Given the description of an element on the screen output the (x, y) to click on. 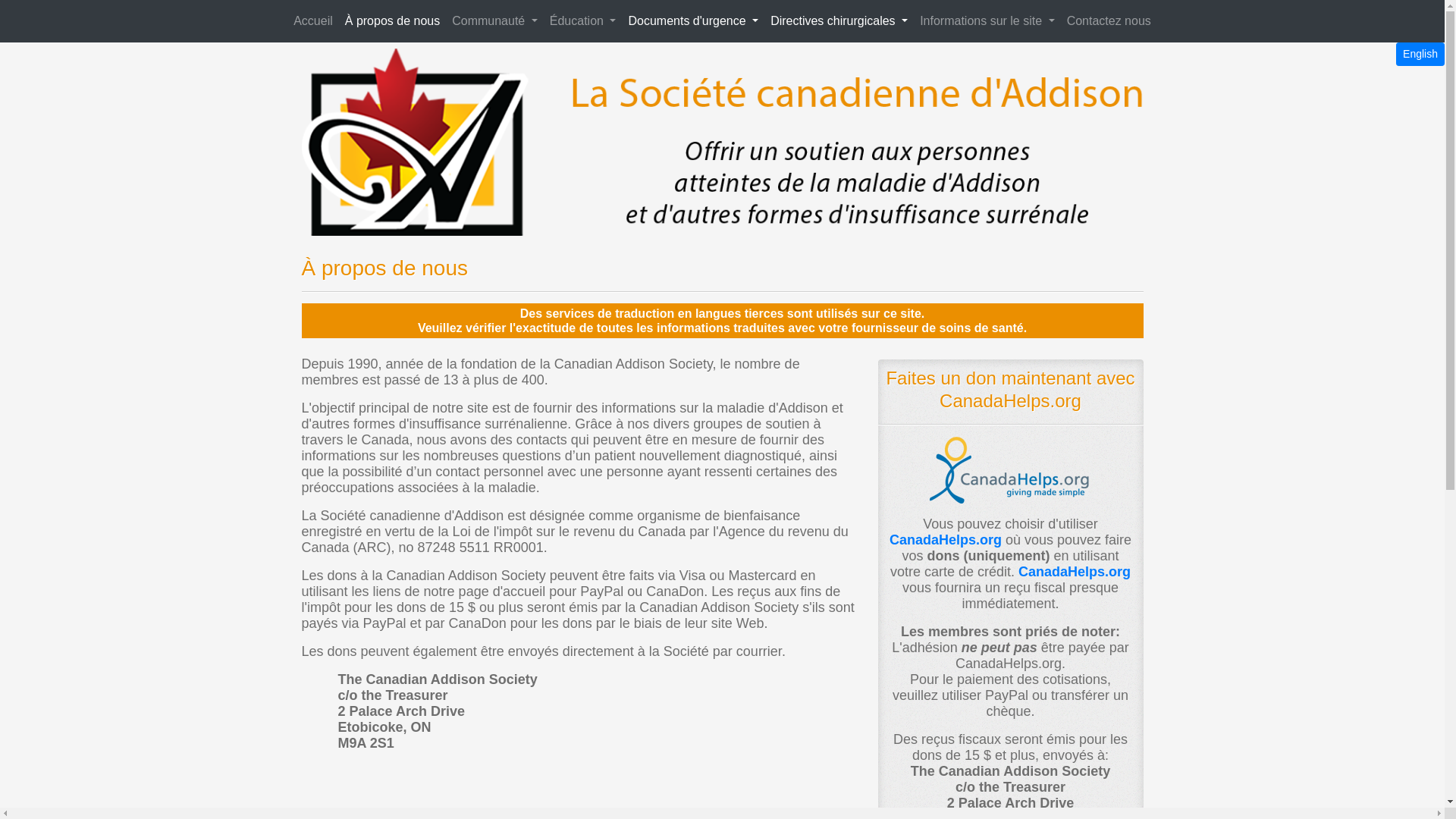
Directives chirurgicales Element type: text (838, 21)
English Element type: text (1420, 53)
CanadaHelps.org Element type: text (1074, 571)
Contactez nous Element type: text (1108, 21)
Documents d'urgence Element type: text (692, 21)
Informations sur le site Element type: text (986, 21)
CanadaHelps.org Element type: text (945, 539)
English Element type: text (1420, 53)
Accueil
(current) Element type: text (312, 21)
